Given the description of an element on the screen output the (x, y) to click on. 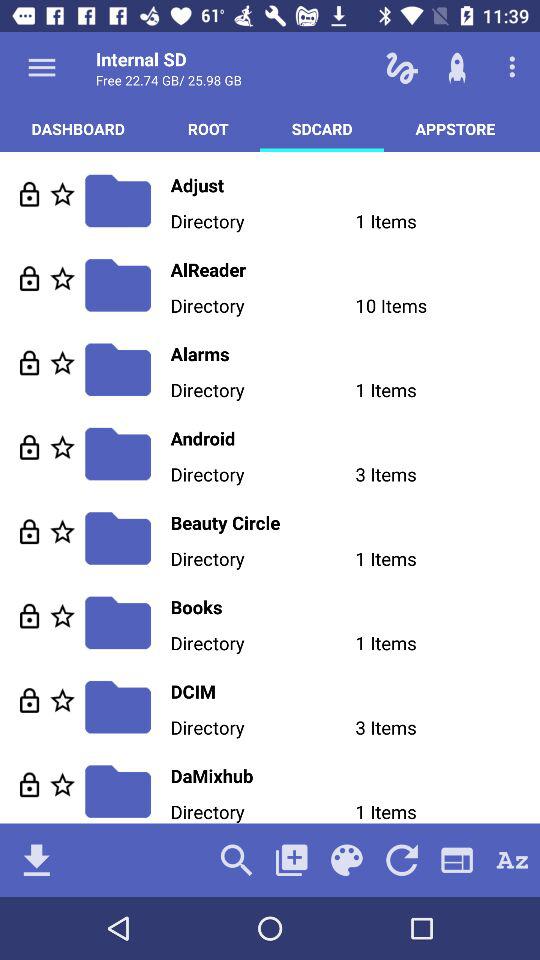
select beauty circle icon (355, 522)
